Given the description of an element on the screen output the (x, y) to click on. 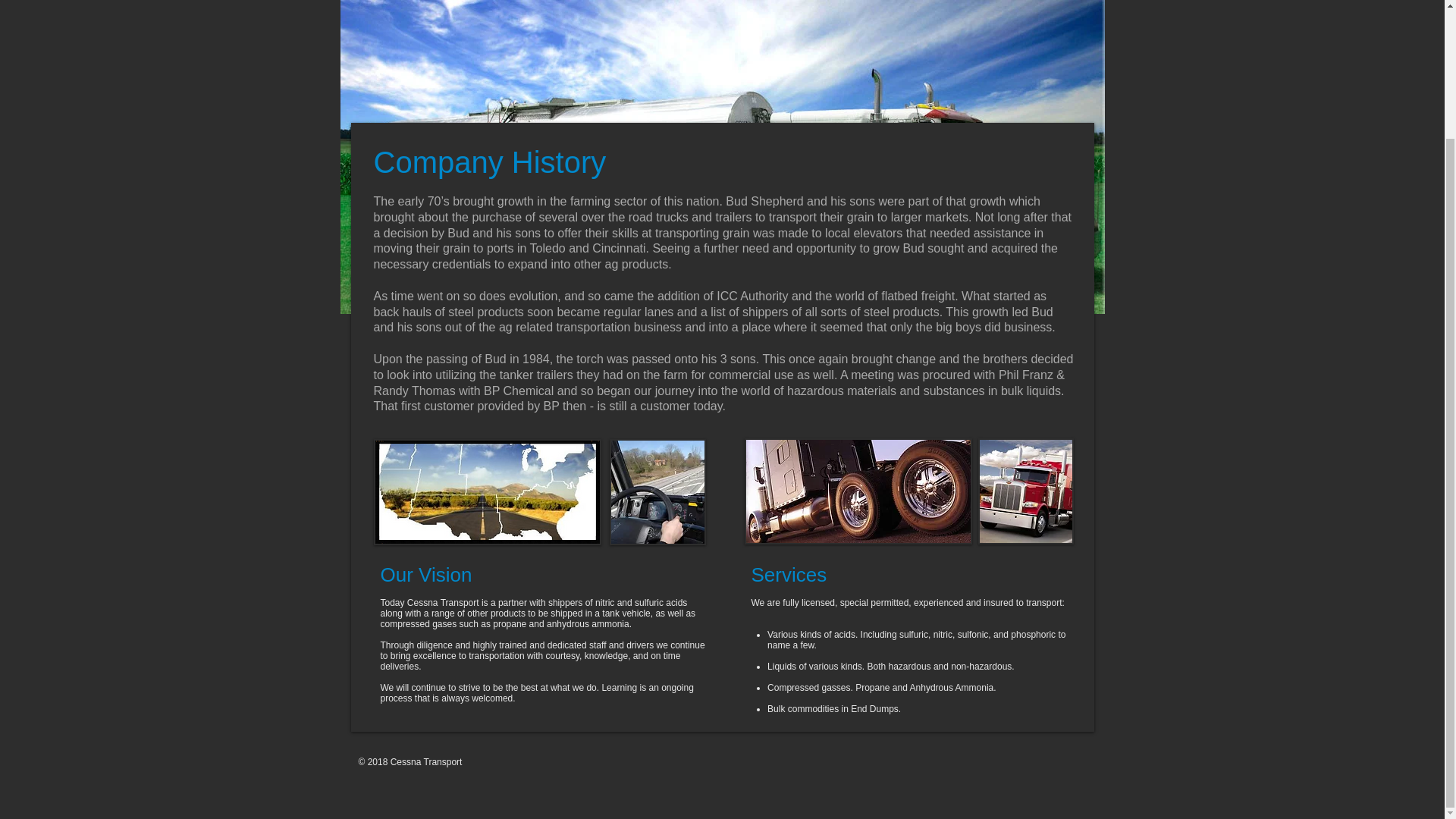
truck-view-windscreen-2330107.jpg (658, 491)
RM-Class8semi-truck.jpg (858, 491)
2007-Peterbilt-388-Semi-Truck-Tractor-Free-Photos.jpg (1026, 491)
logistics map.png 2014-10-29-10:37:44 (485, 491)
